Given the description of an element on the screen output the (x, y) to click on. 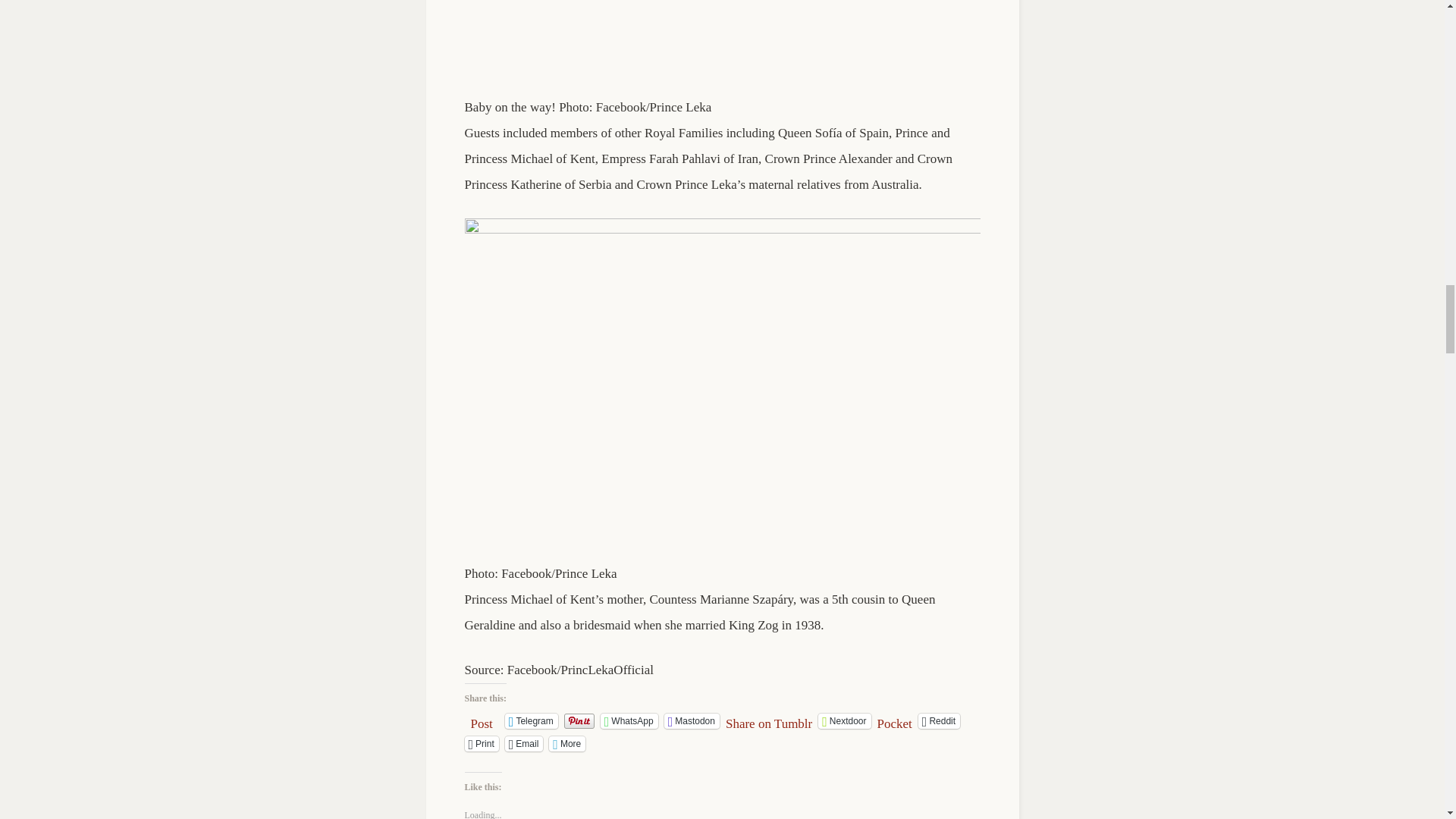
Share on Tumblr (768, 720)
More (566, 743)
Telegram (531, 720)
Click to print (480, 743)
Click to share on Telegram (531, 720)
Click to share on WhatsApp (628, 720)
Share on Tumblr (768, 720)
Post (481, 720)
Click to email a link to a friend (524, 743)
Pocket (894, 723)
